Given the description of an element on the screen output the (x, y) to click on. 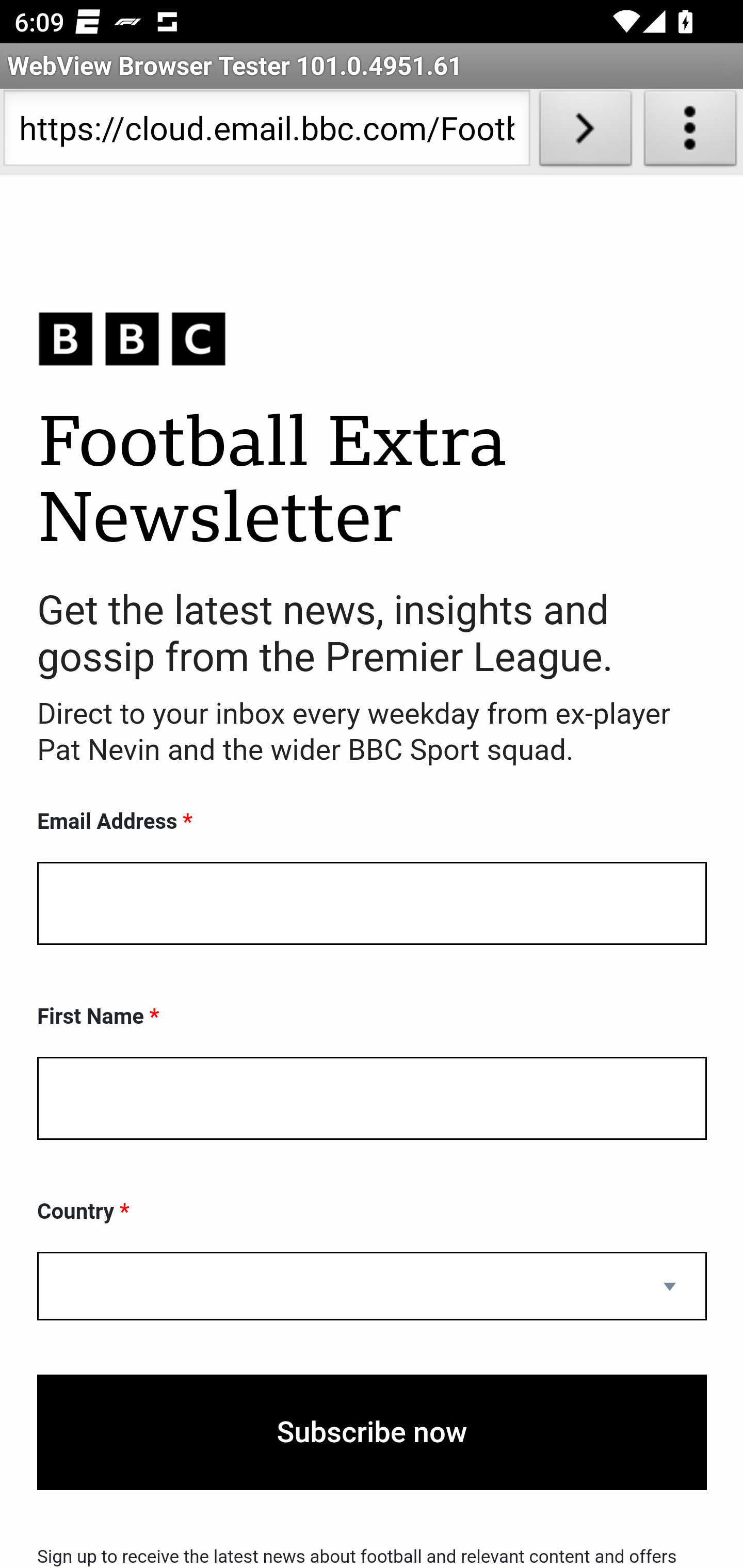
Load URL (585, 132)
About WebView (690, 132)
BBC (372, 338)
Subscribe now (372, 1432)
